Given the description of an element on the screen output the (x, y) to click on. 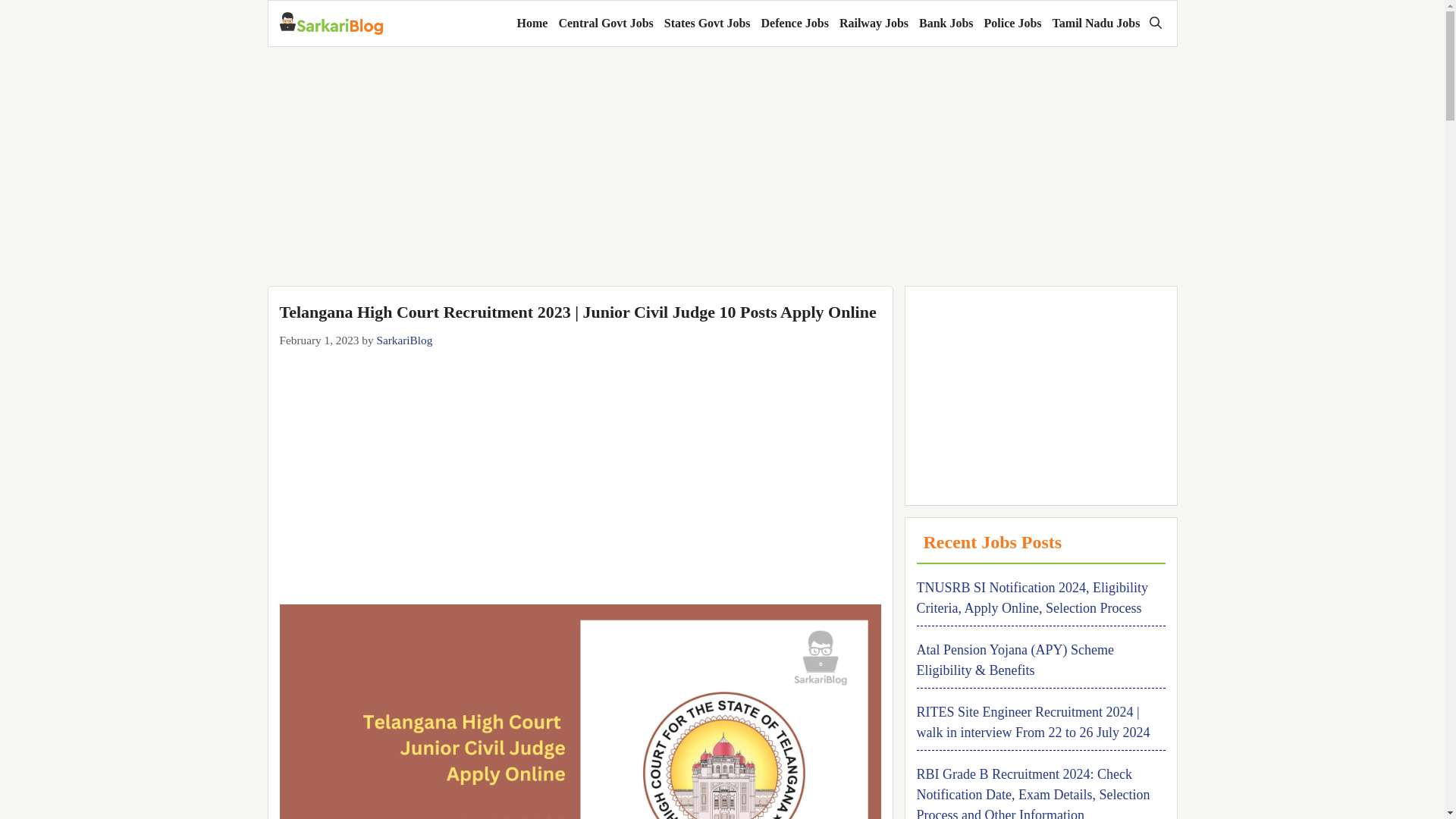
Tamil Nadu Jobs (1095, 22)
Sarkari Blog: Latest Government Jobs 2024 Notification (330, 23)
States Govt Jobs (707, 22)
Central Govt Jobs (605, 22)
Bank Jobs (946, 22)
View all posts by SarkariBlog (403, 339)
Telangana High Court Recruitment 2023 (579, 711)
Police Jobs (1012, 22)
Railway Jobs (874, 22)
Home (532, 22)
Defence Jobs (794, 22)
SarkariBlog (403, 339)
